Given the description of an element on the screen output the (x, y) to click on. 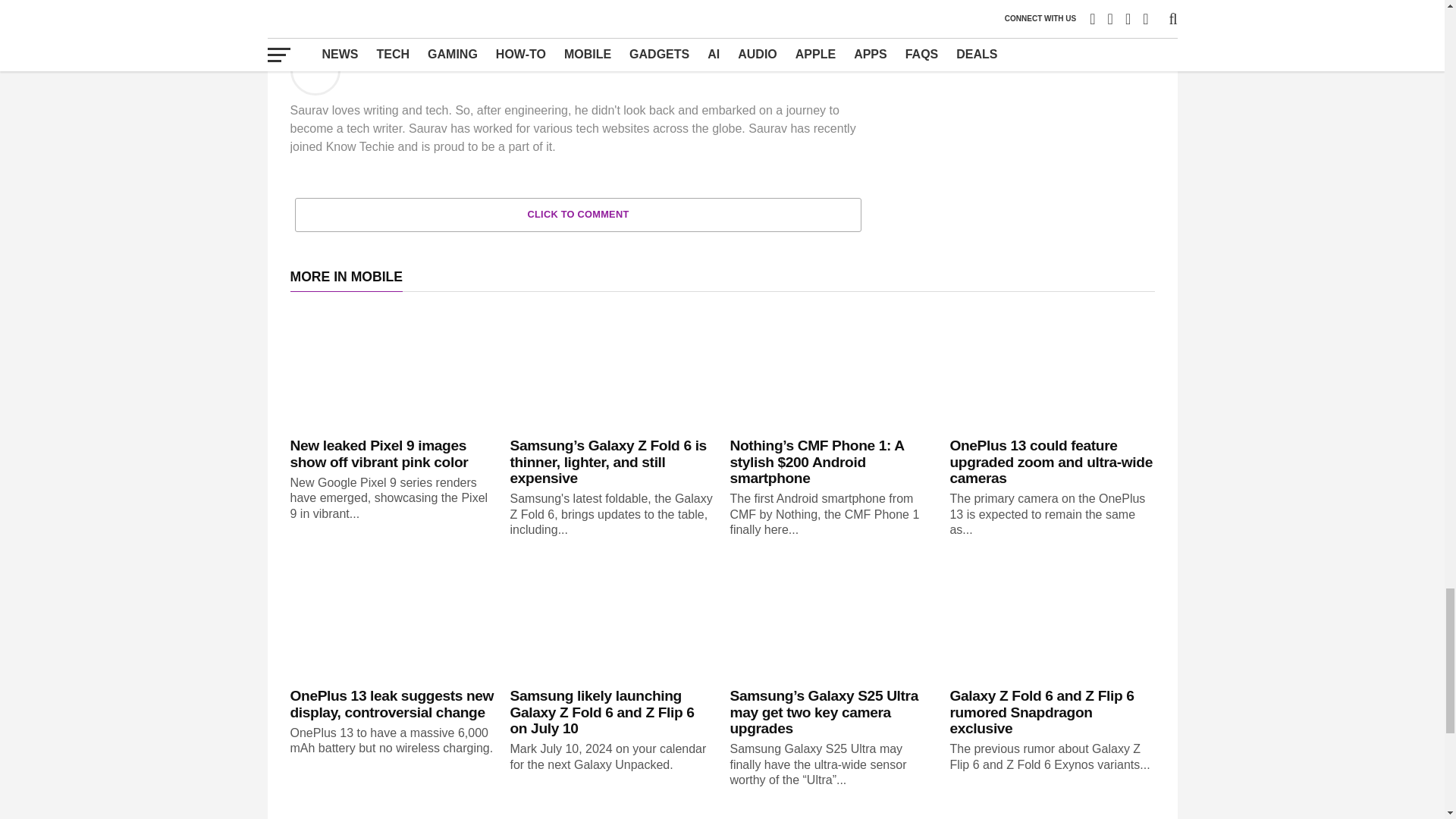
Posts by Saurav Dey (386, 58)
